Given the description of an element on the screen output the (x, y) to click on. 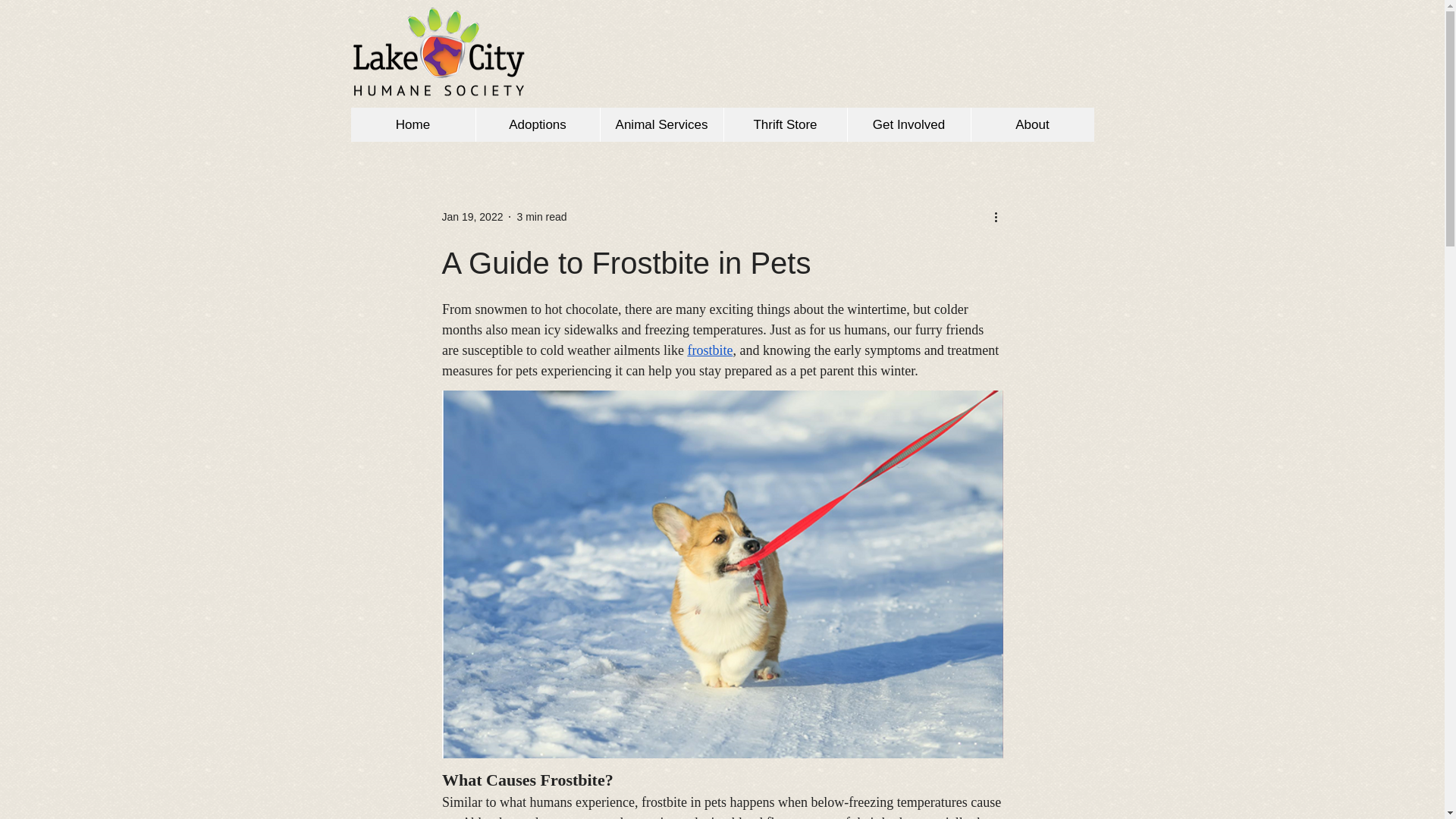
3 min read (541, 216)
Jan 19, 2022 (471, 216)
Animal Services (660, 124)
Adoptions (536, 124)
Thrift Store (785, 124)
Home (412, 124)
frostbite (709, 350)
About (1032, 124)
Get Involved (907, 124)
